Given the description of an element on the screen output the (x, y) to click on. 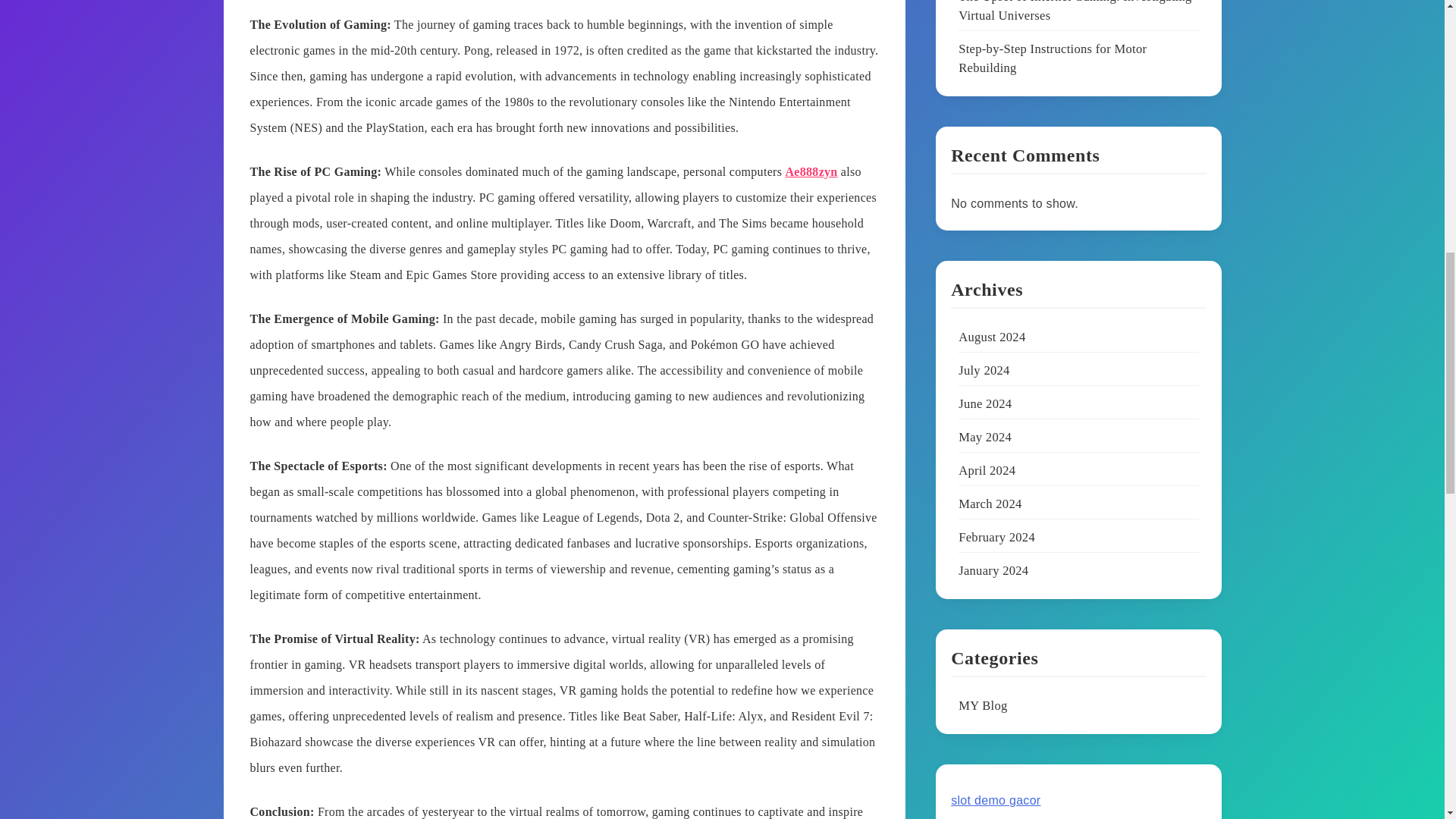
Ae888zyn (812, 171)
August 2024 (991, 337)
Step-by-Step Instructions for Motor Rebuilding (1052, 58)
April 2024 (986, 471)
May 2024 (984, 437)
July 2024 (984, 371)
June 2024 (984, 404)
